Given the description of an element on the screen output the (x, y) to click on. 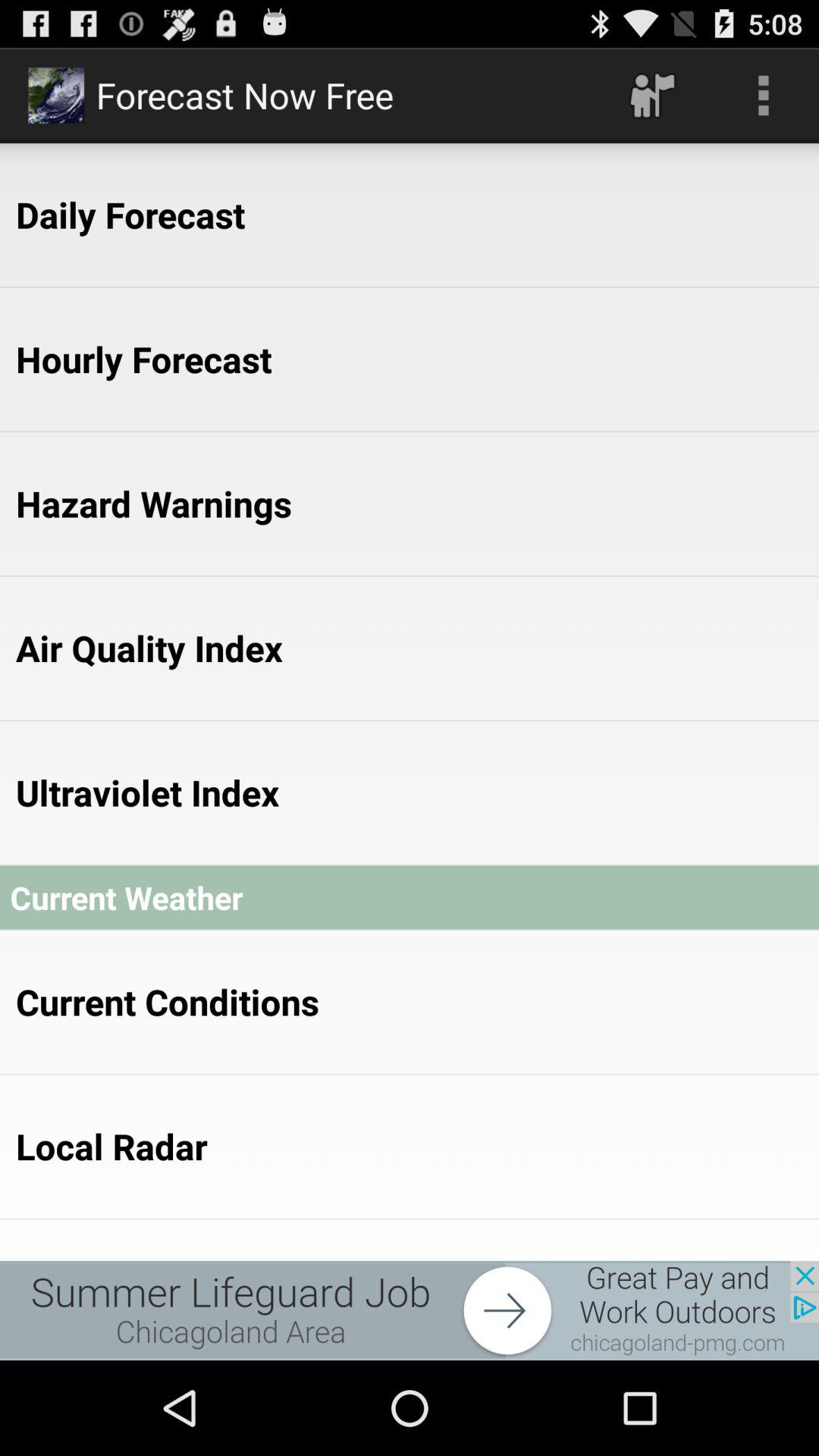
details about advertisement (409, 1310)
